Given the description of an element on the screen output the (x, y) to click on. 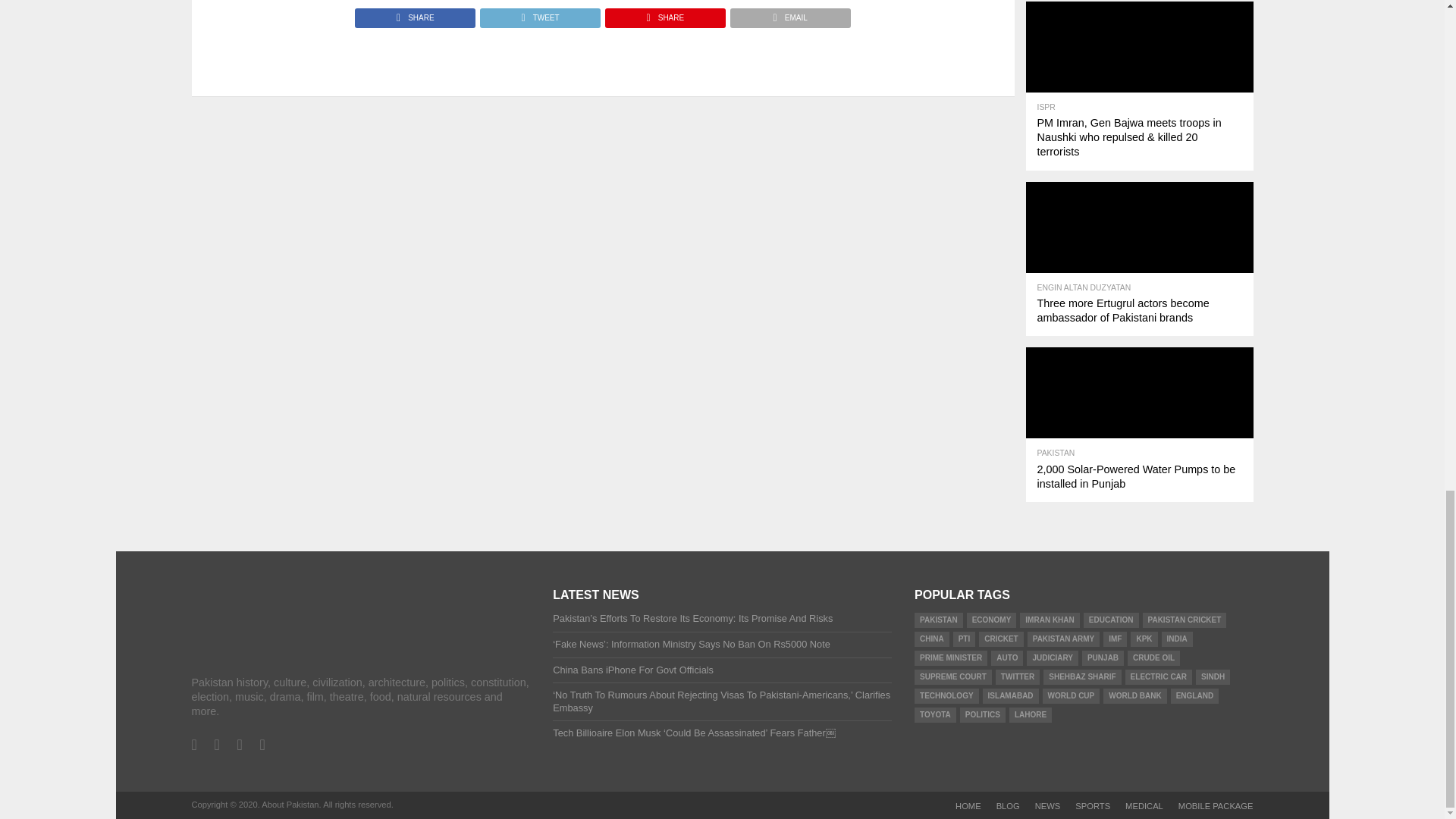
Pin This Post (664, 13)
Share on Facebook (415, 13)
Tweet This Post (539, 13)
